Given the description of an element on the screen output the (x, y) to click on. 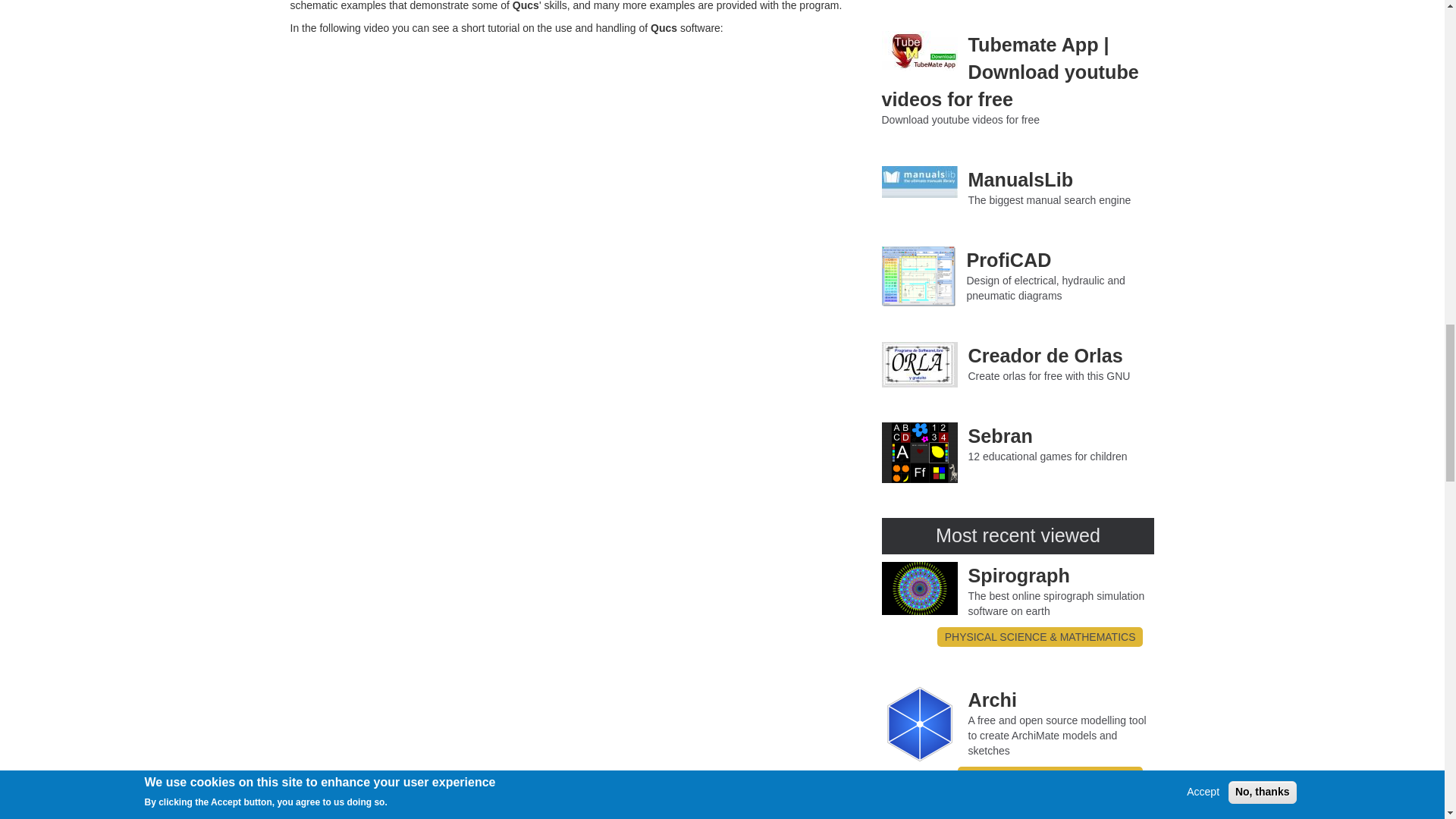
ManualsLib Banana-soft.com (918, 182)
Download youtube videos for free (918, 51)
ProfiCAD bananasoft.com (917, 276)
Creador de Orlas (918, 364)
Sebran (918, 452)
